Given the description of an element on the screen output the (x, y) to click on. 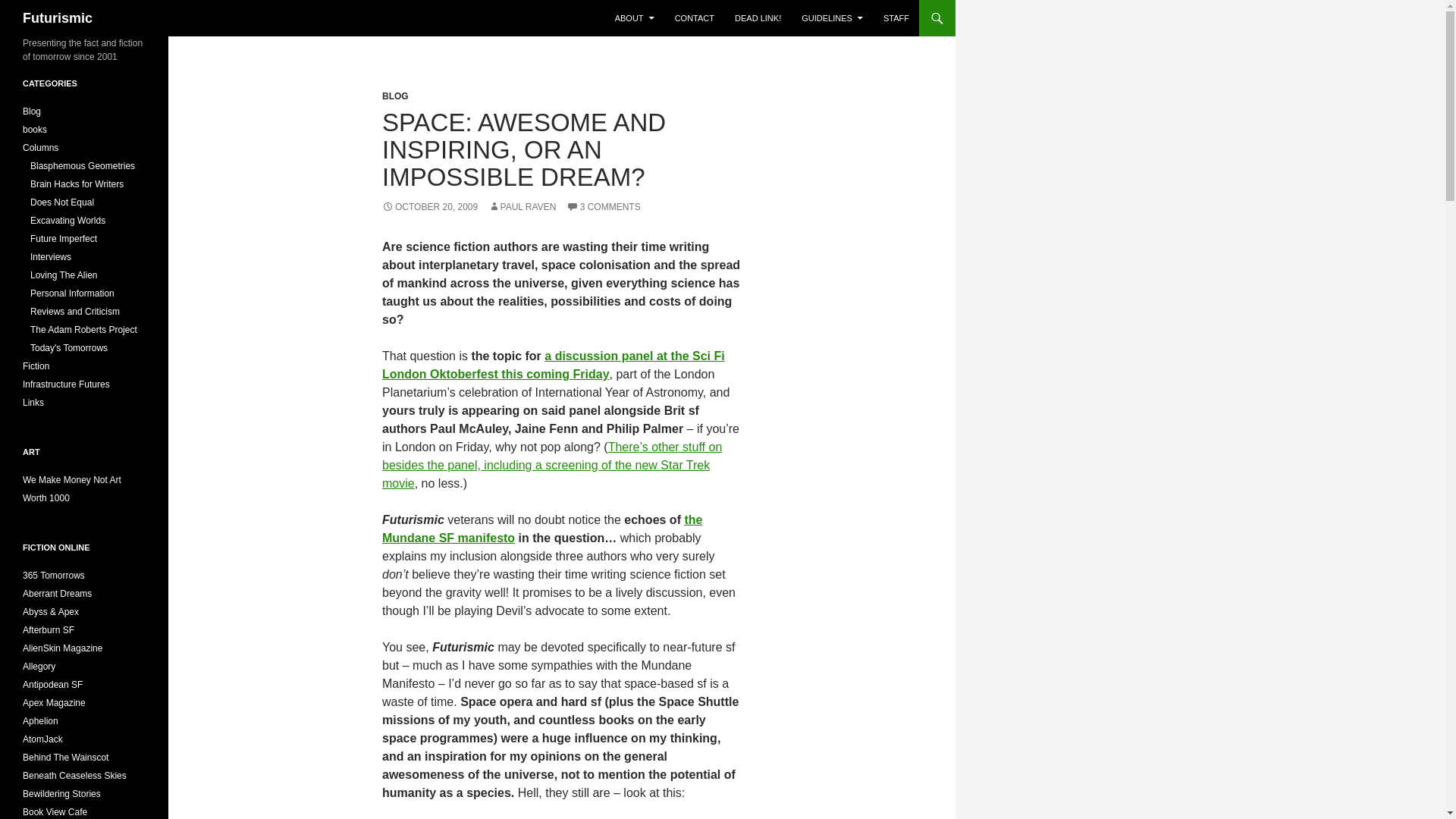
DEAD LINK! (757, 18)
A Space Of Waste? - SciFi London Oktoberfest (553, 364)
GUIDELINES (832, 18)
PAUL RAVEN (521, 206)
Blog (31, 111)
STAFF (896, 18)
Does Not Equal (62, 202)
ABOUT (634, 18)
Futurismic (58, 18)
Blasphemous Geometries (82, 165)
the Mundane SF manifesto (541, 528)
SciFi Universe Planetarium Show - SciFi London Oktoberfest (551, 464)
BLOG (395, 95)
Columns (40, 147)
